Given the description of an element on the screen output the (x, y) to click on. 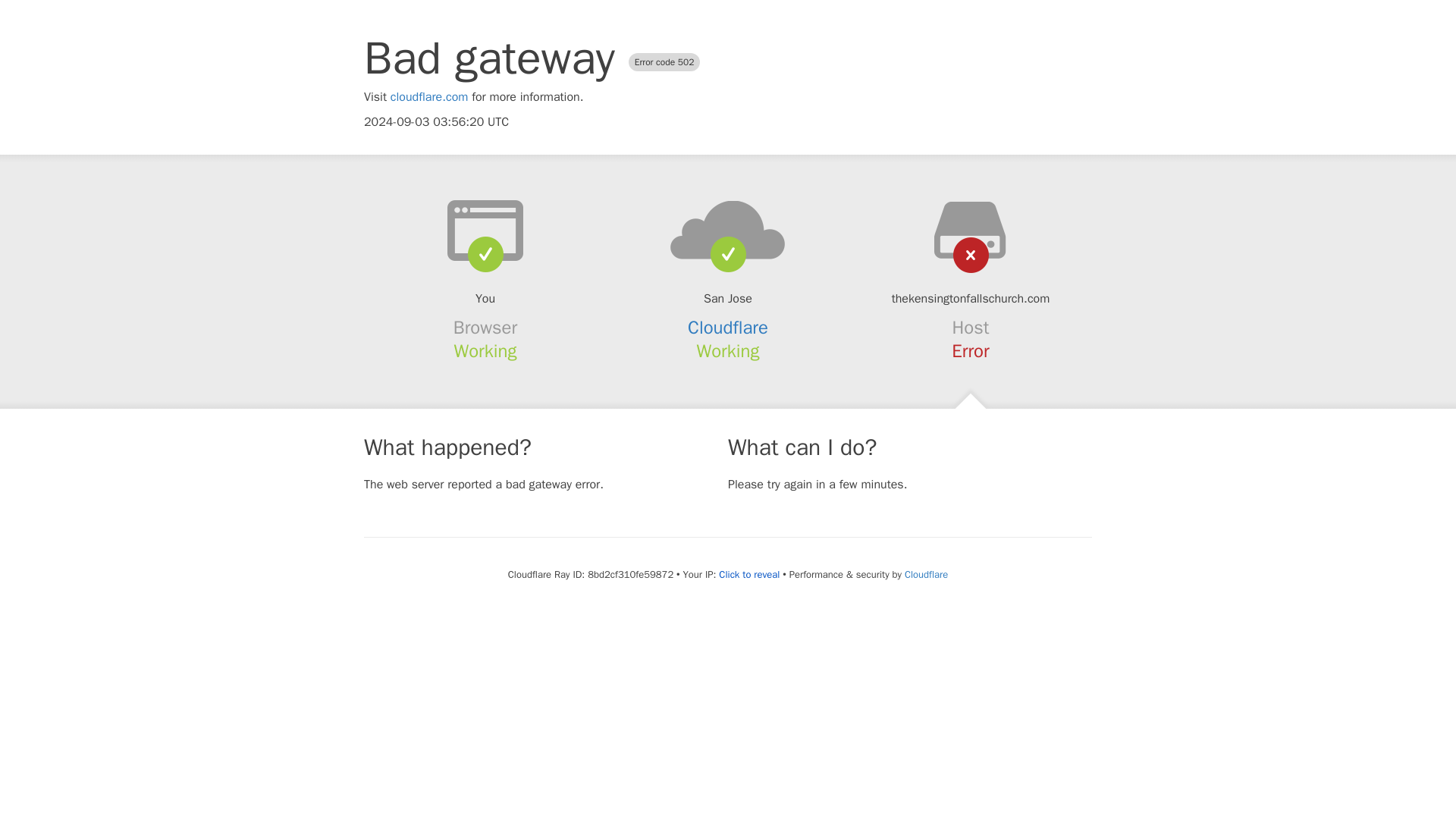
Cloudflare (727, 327)
Cloudflare (925, 574)
cloudflare.com (429, 96)
Click to reveal (748, 574)
